Given the description of an element on the screen output the (x, y) to click on. 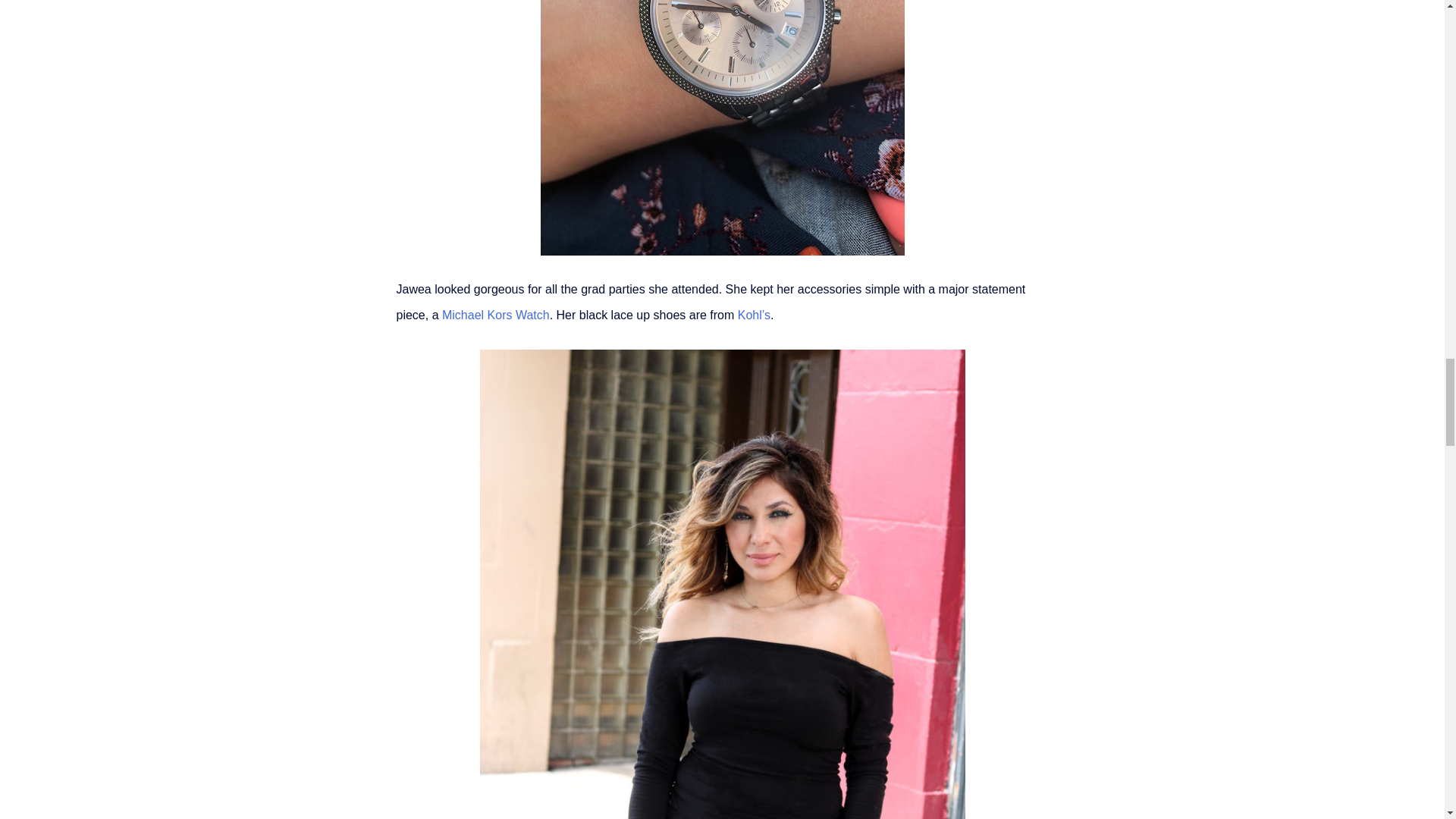
Michael Kors Watch (496, 314)
